Given the description of an element on the screen output the (x, y) to click on. 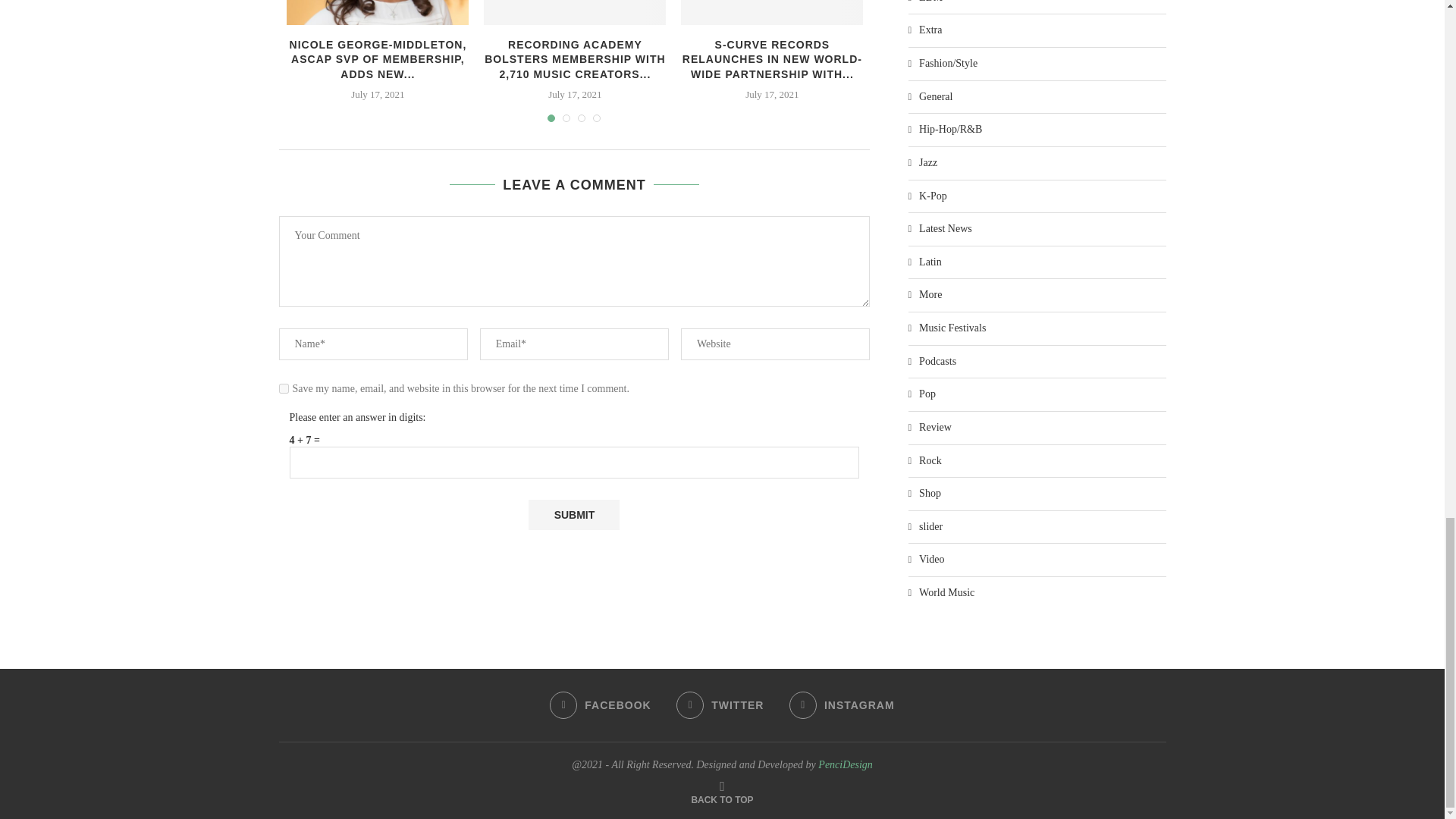
Submit (574, 514)
yes (283, 388)
